Given the description of an element on the screen output the (x, y) to click on. 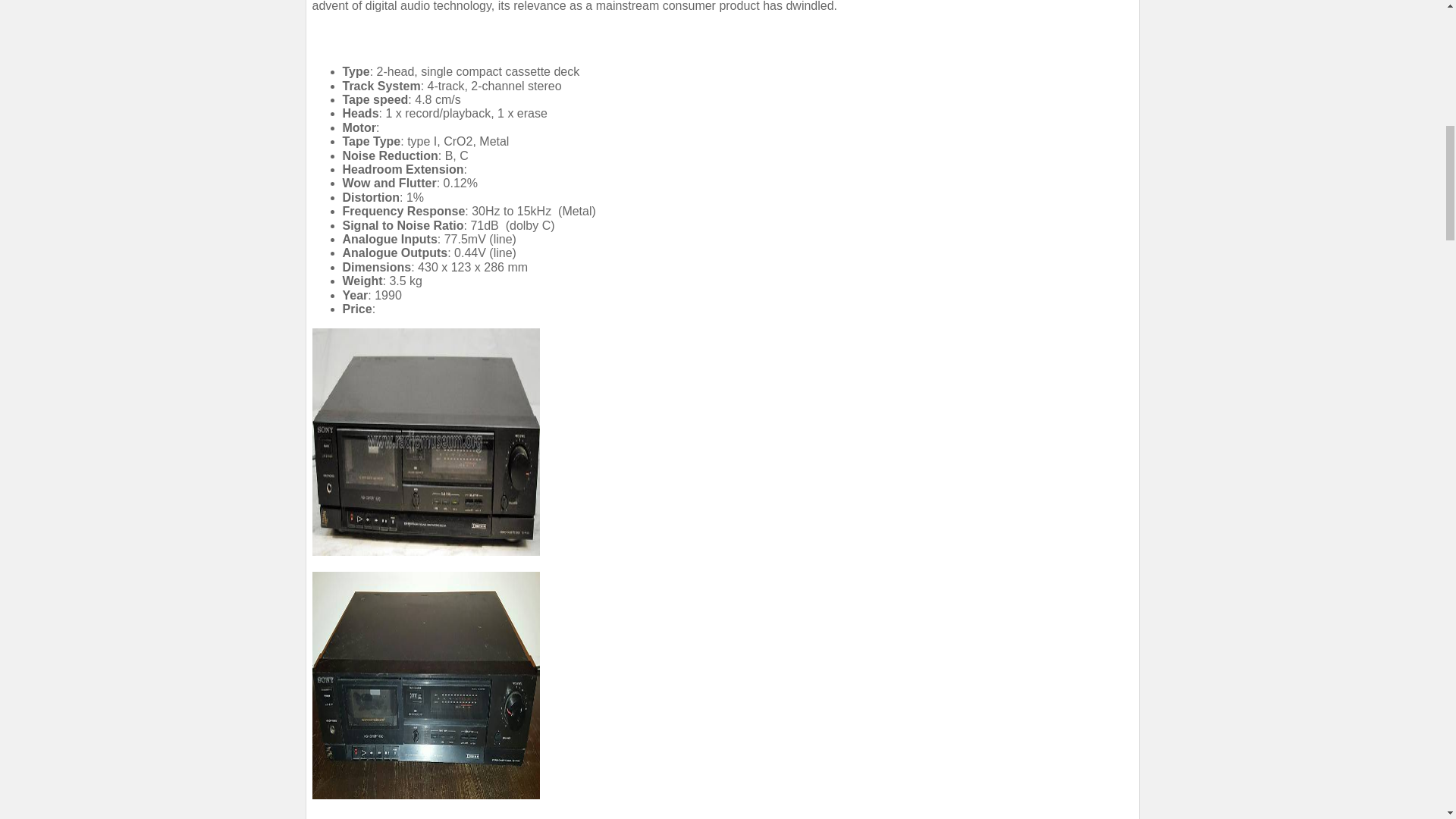
Sony TC-FX120 (426, 685)
Sony TC-FX120 (426, 442)
